Given the description of an element on the screen output the (x, y) to click on. 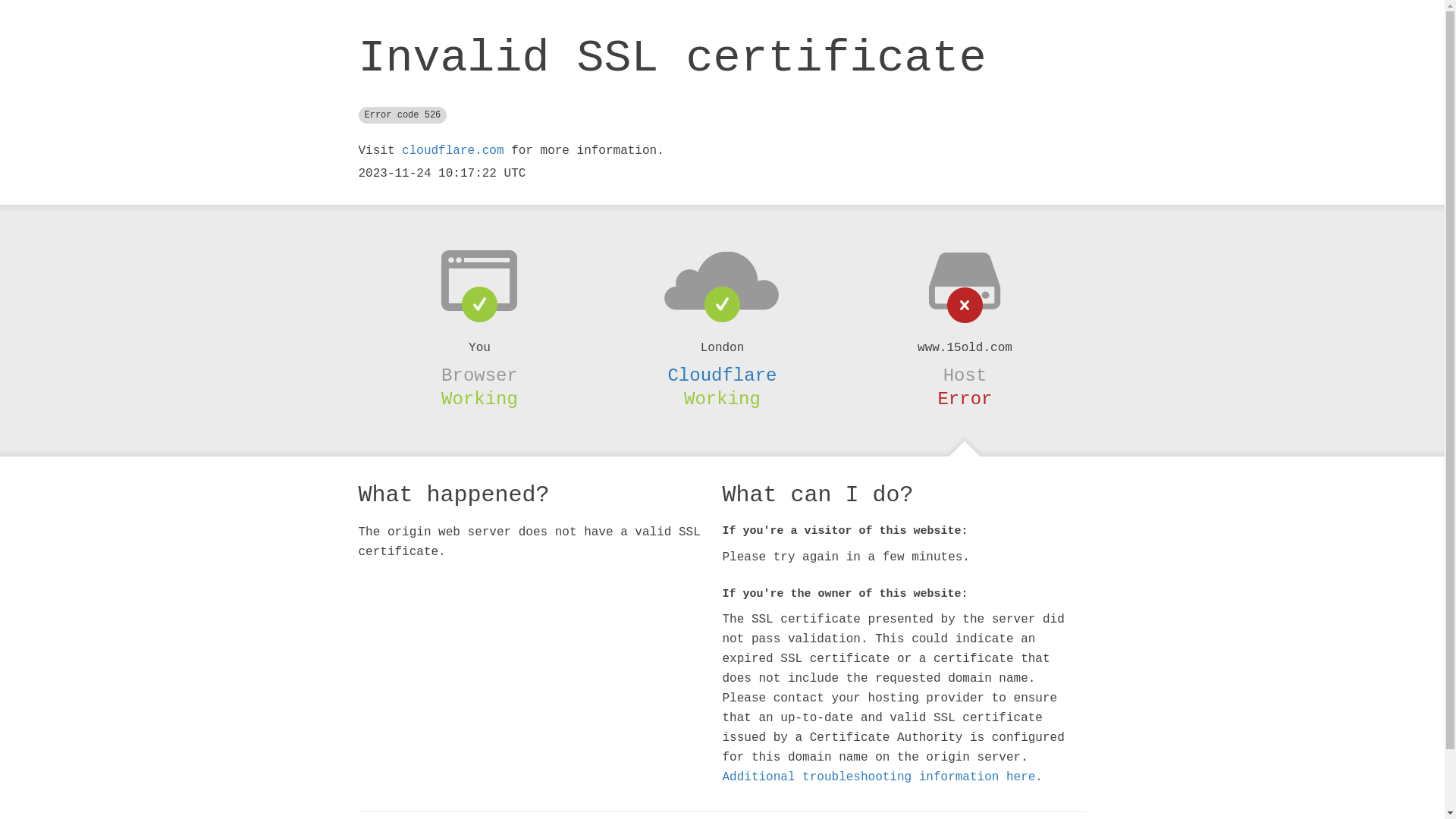
Additional troubleshooting information here. Element type: text (881, 777)
cloudflare.com Element type: text (452, 150)
Cloudflare Element type: text (721, 375)
